Given the description of an element on the screen output the (x, y) to click on. 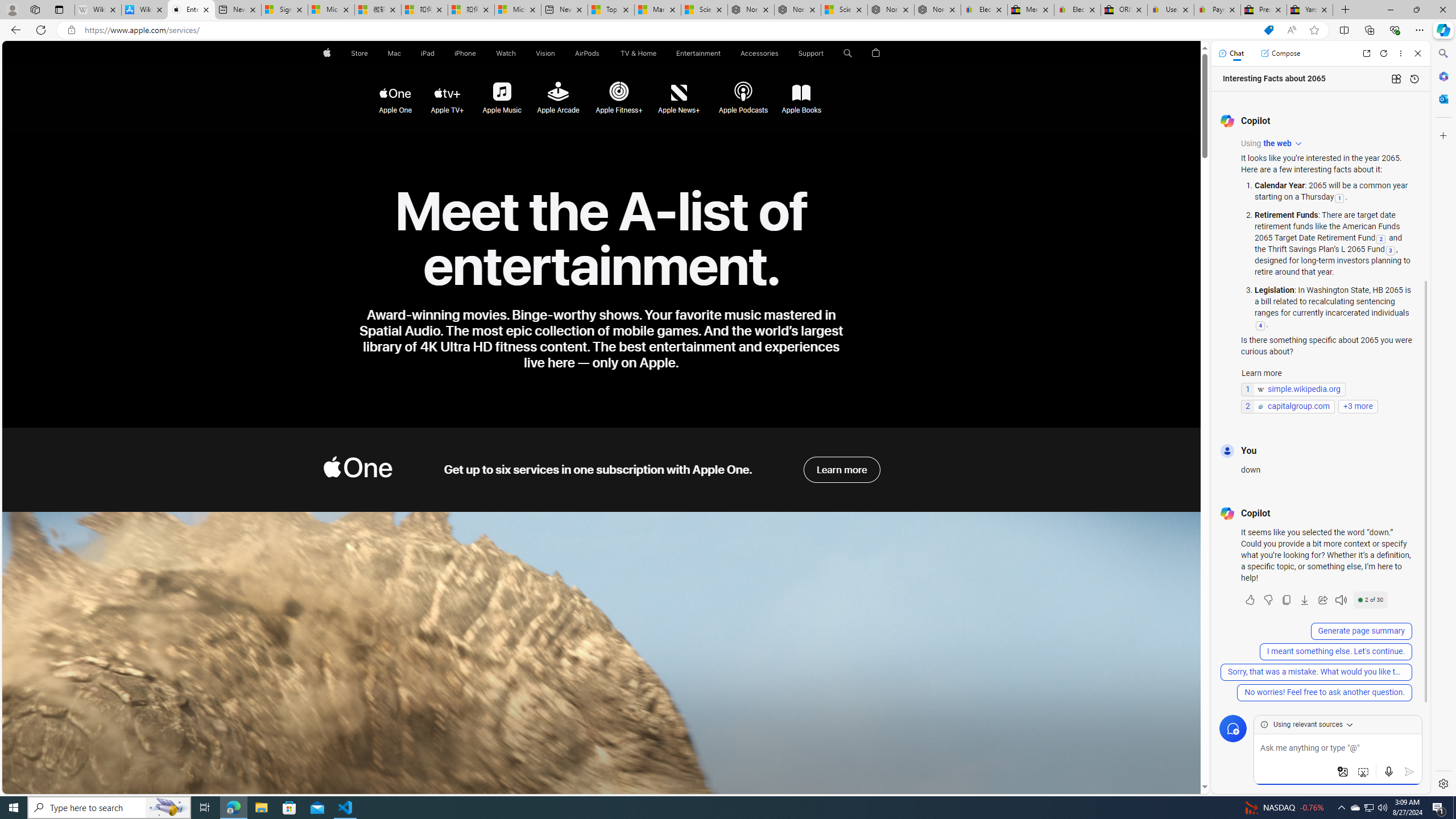
TV and Home menu (658, 53)
Store (359, 53)
iPad menu (435, 53)
